Given the description of an element on the screen output the (x, y) to click on. 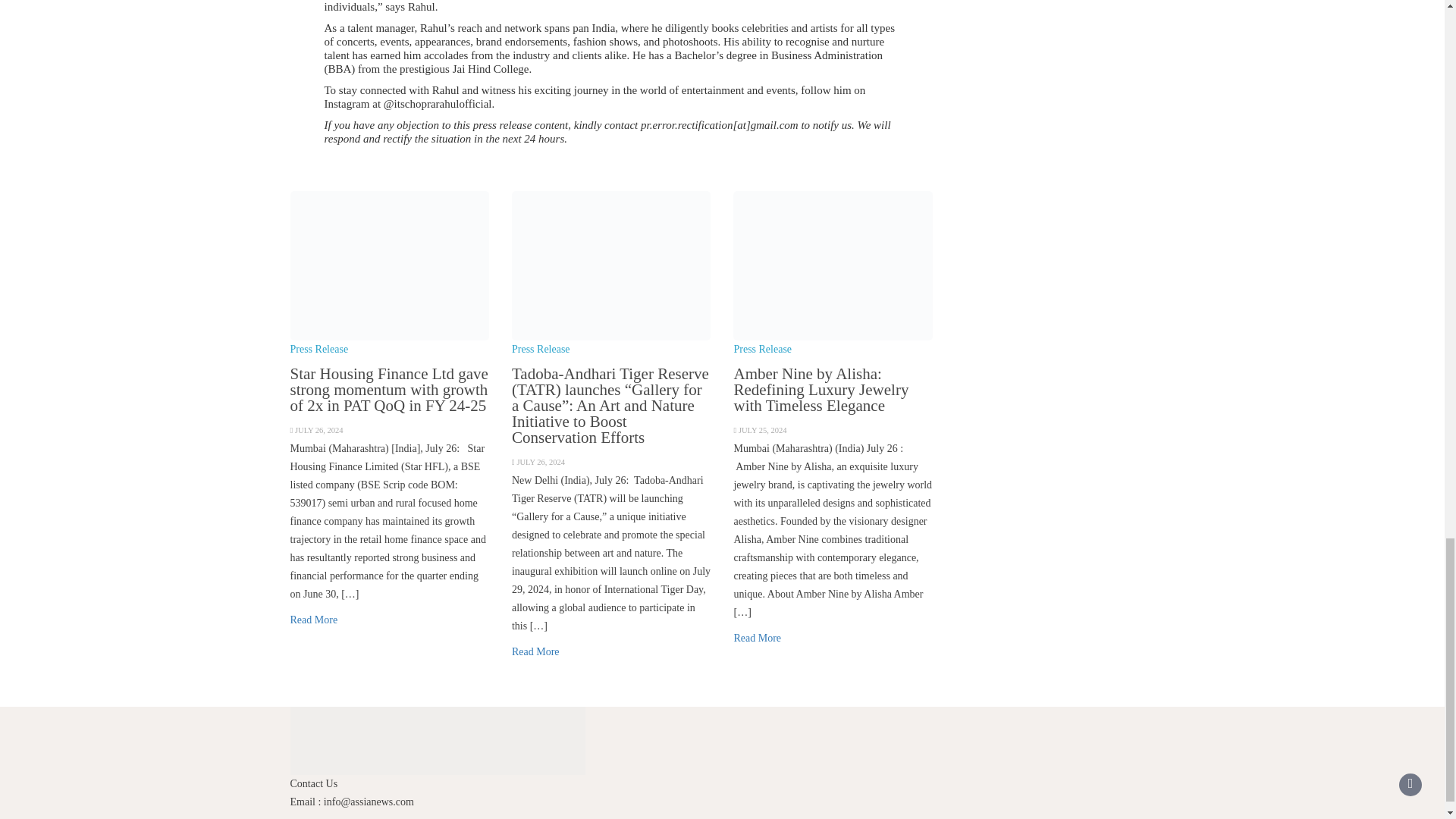
Read More (535, 651)
JULY 26, 2024 (540, 461)
JULY 25, 2024 (762, 429)
Press Release (762, 348)
Read More (313, 619)
Press Release (318, 348)
Press Release (541, 348)
Read More (756, 637)
JULY 26, 2024 (319, 429)
